Given the description of an element on the screen output the (x, y) to click on. 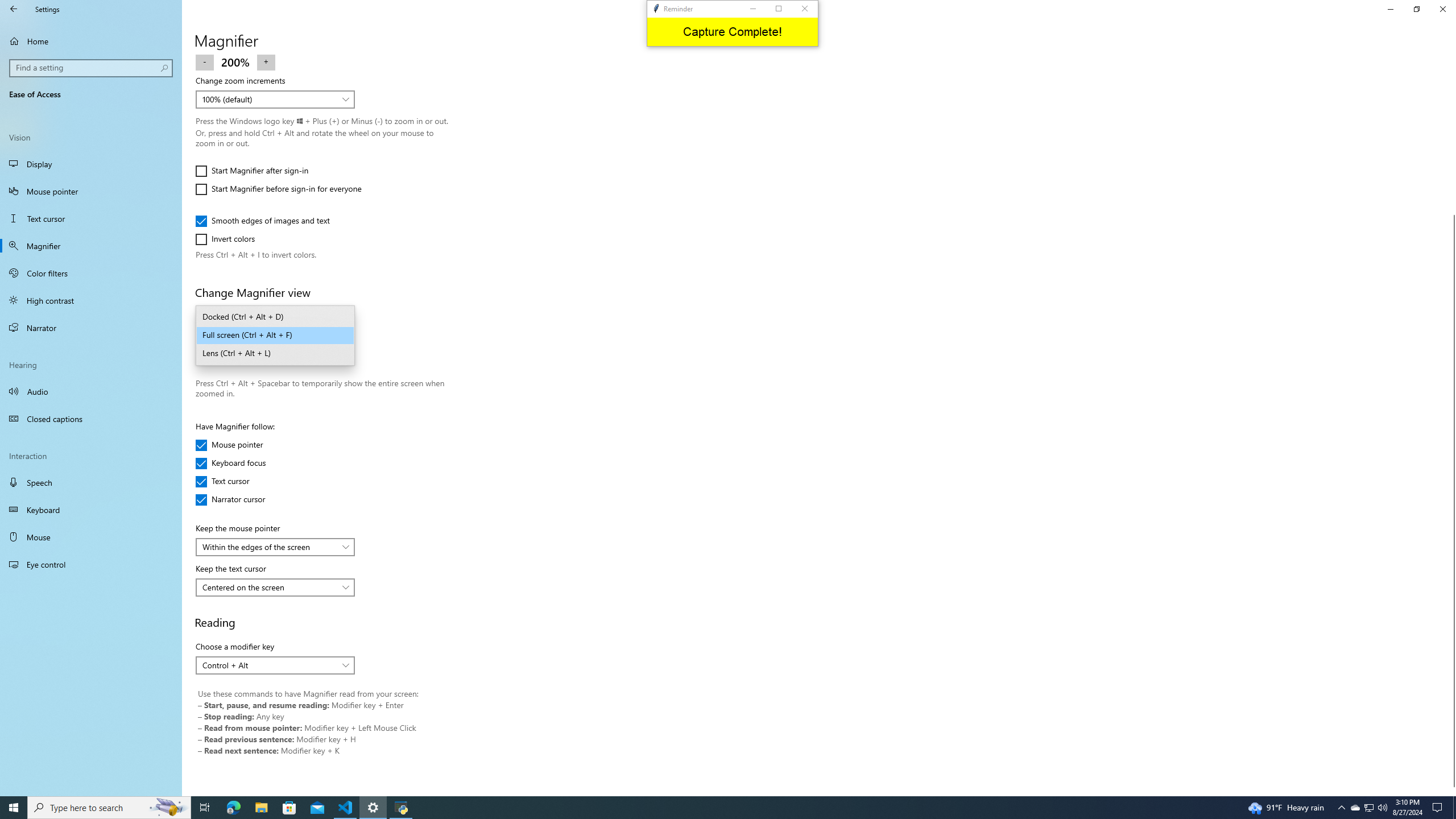
Full screen (Ctrl + Alt + F) (274, 335)
Mouse pointer (91, 190)
Settings - 1 running window (373, 807)
Closed captions (91, 418)
Speech (91, 482)
Vertical Small Decrease (1451, 58)
100% (default) (269, 99)
Docked (Ctrl + Alt + D) (274, 316)
Keep the text cursor (275, 587)
